Given the description of an element on the screen output the (x, y) to click on. 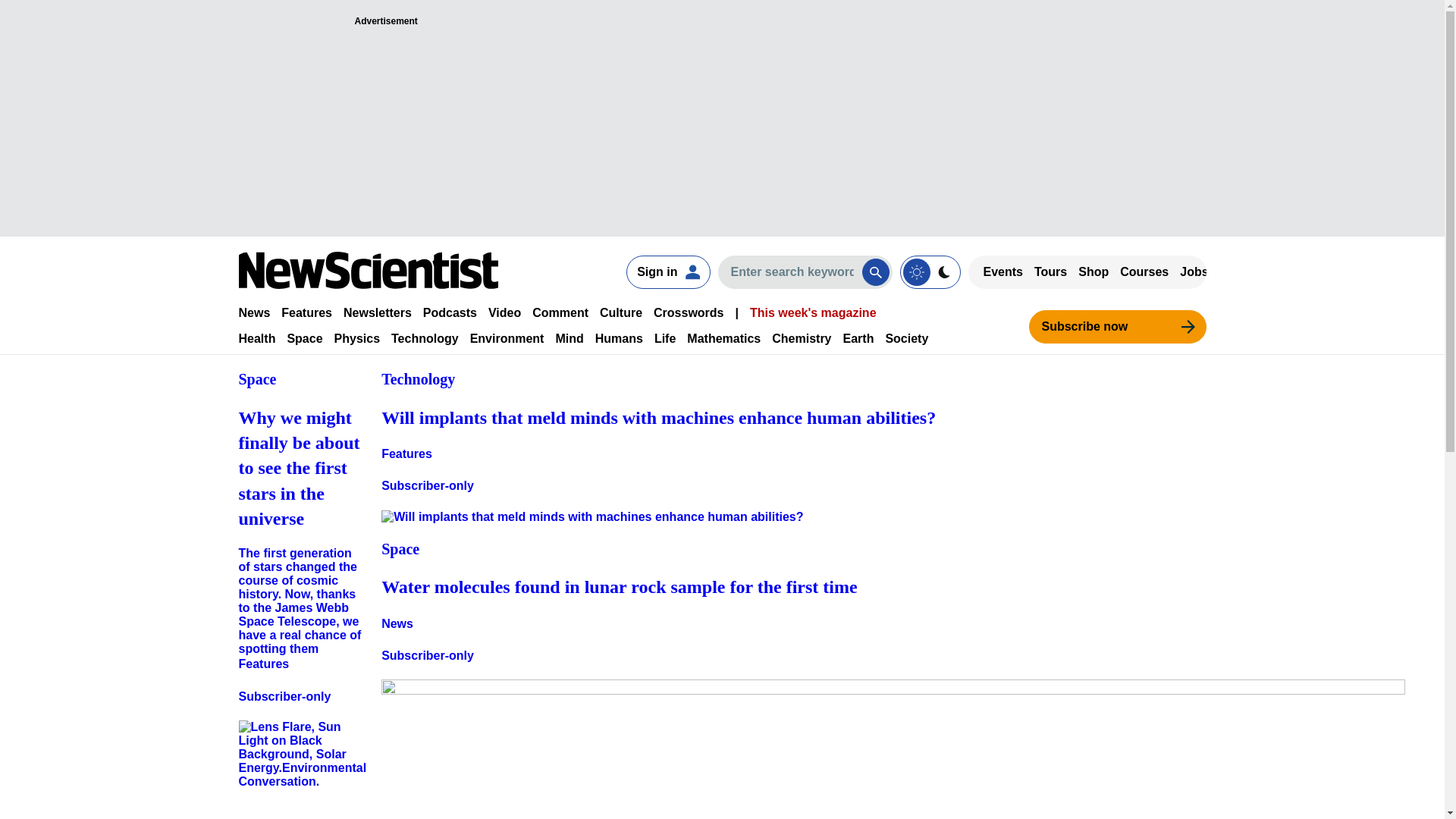
Physics (357, 338)
Mathematics (723, 338)
Jobs (1193, 272)
Society (906, 338)
Events (1002, 272)
Subscribe now (1116, 326)
Courses (1144, 272)
Earth (859, 338)
Video (504, 313)
Sign In page link (668, 272)
